Given the description of an element on the screen output the (x, y) to click on. 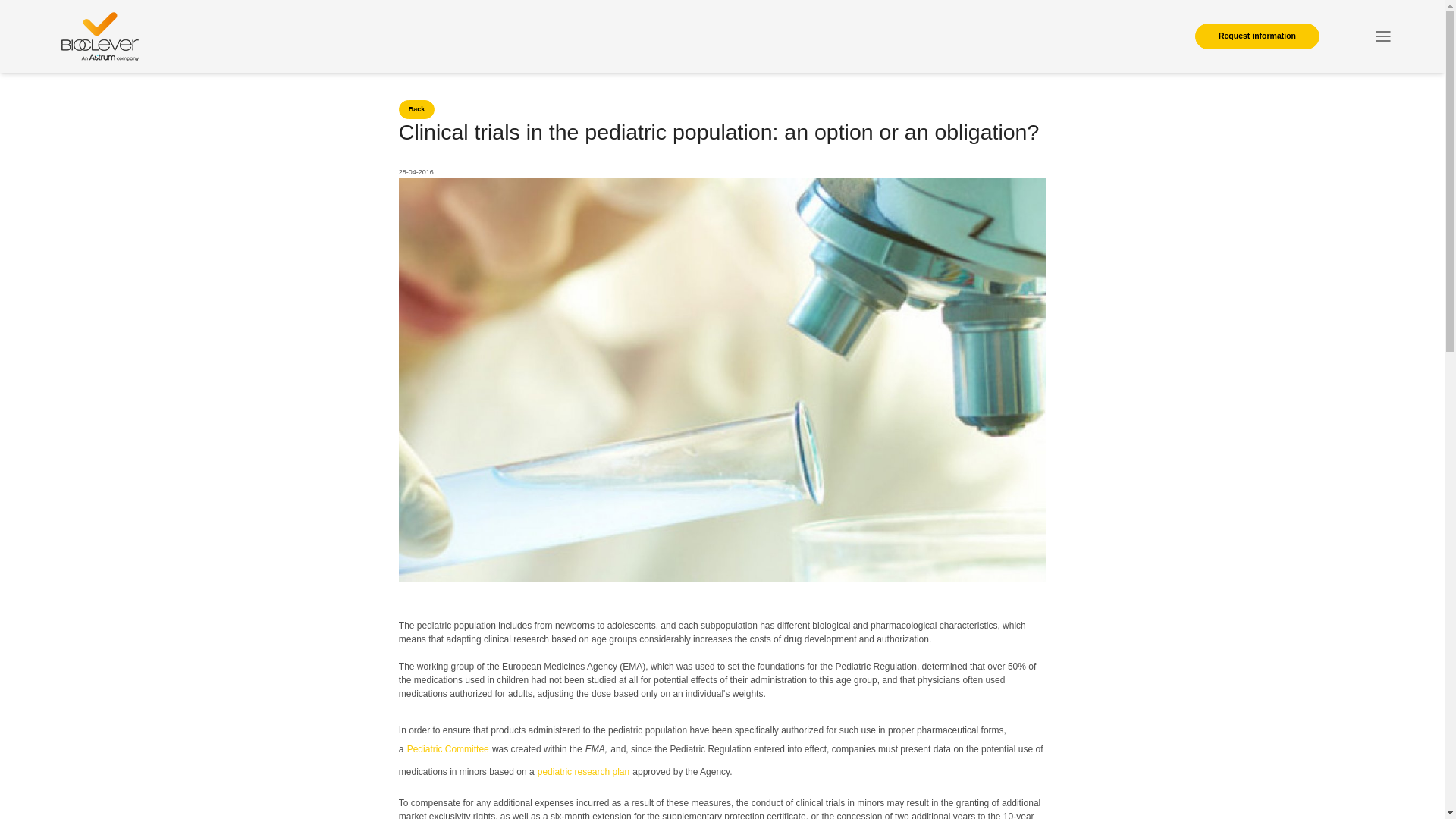
Bioclever by Astrum (100, 36)
Request information (1257, 35)
Pediatric Committee (448, 748)
pediatric research plan (582, 771)
Request information (1257, 35)
